Given the description of an element on the screen output the (x, y) to click on. 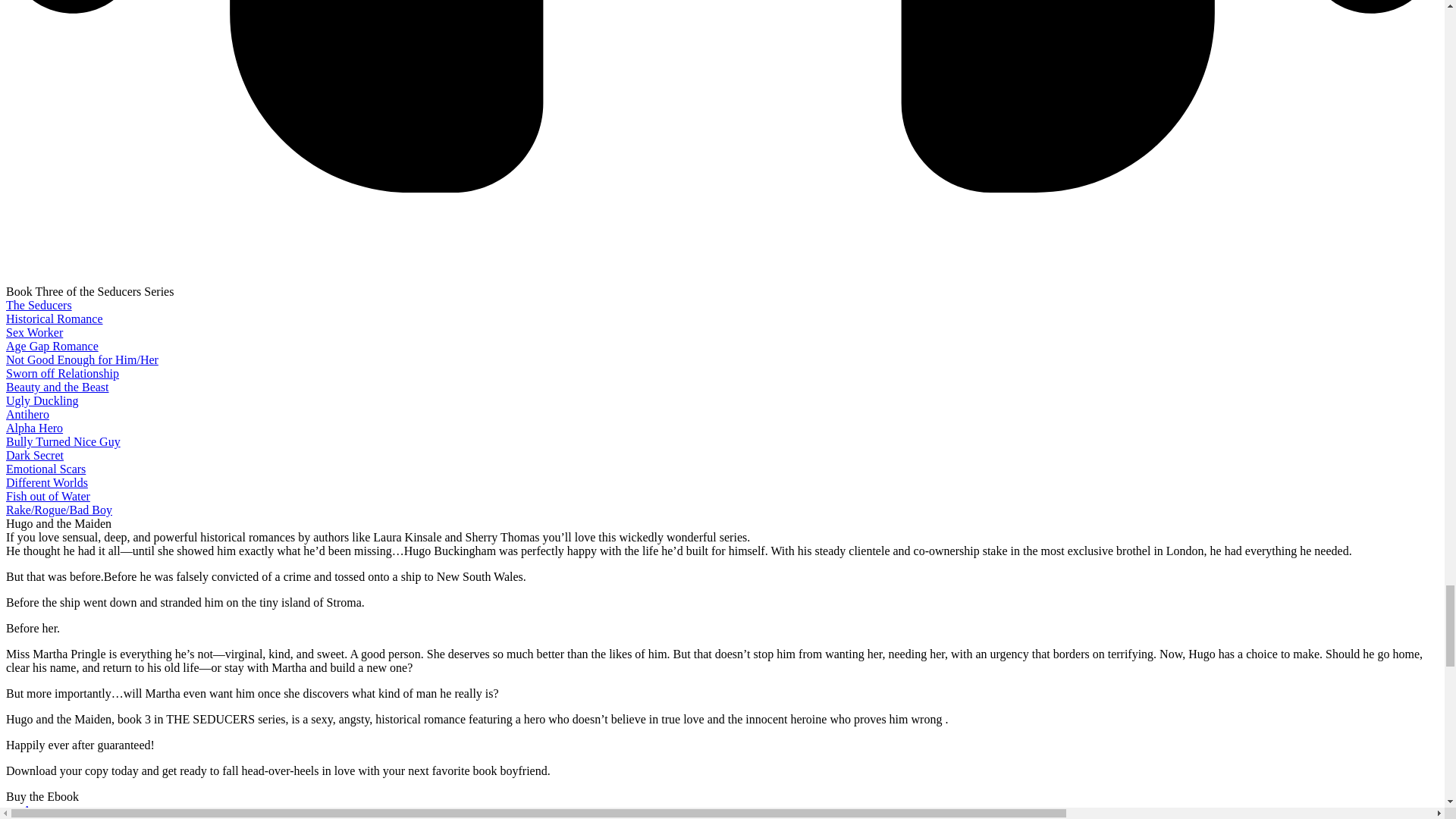
Sworn off Relationship (62, 373)
The Seducers (38, 305)
Sex Worker (33, 332)
Age Gap Romance (52, 345)
Beauty and the Beast (57, 386)
Historical Romance (54, 318)
